Given the description of an element on the screen output the (x, y) to click on. 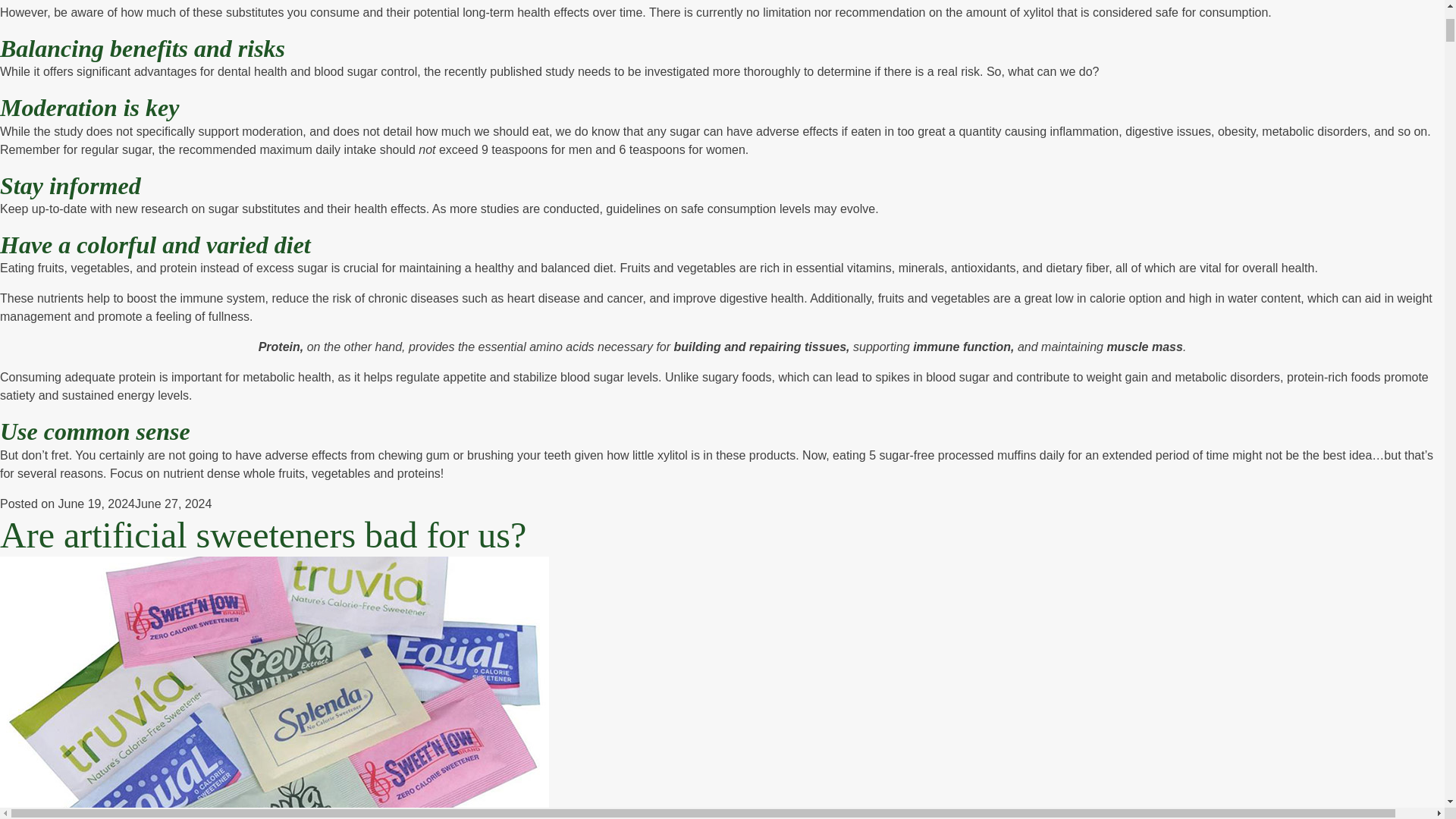
June 19, 2024June 27, 2024 (135, 503)
recommended maximum daily intake (278, 149)
Are artificial sweeteners bad for us? (262, 535)
